Given the description of an element on the screen output the (x, y) to click on. 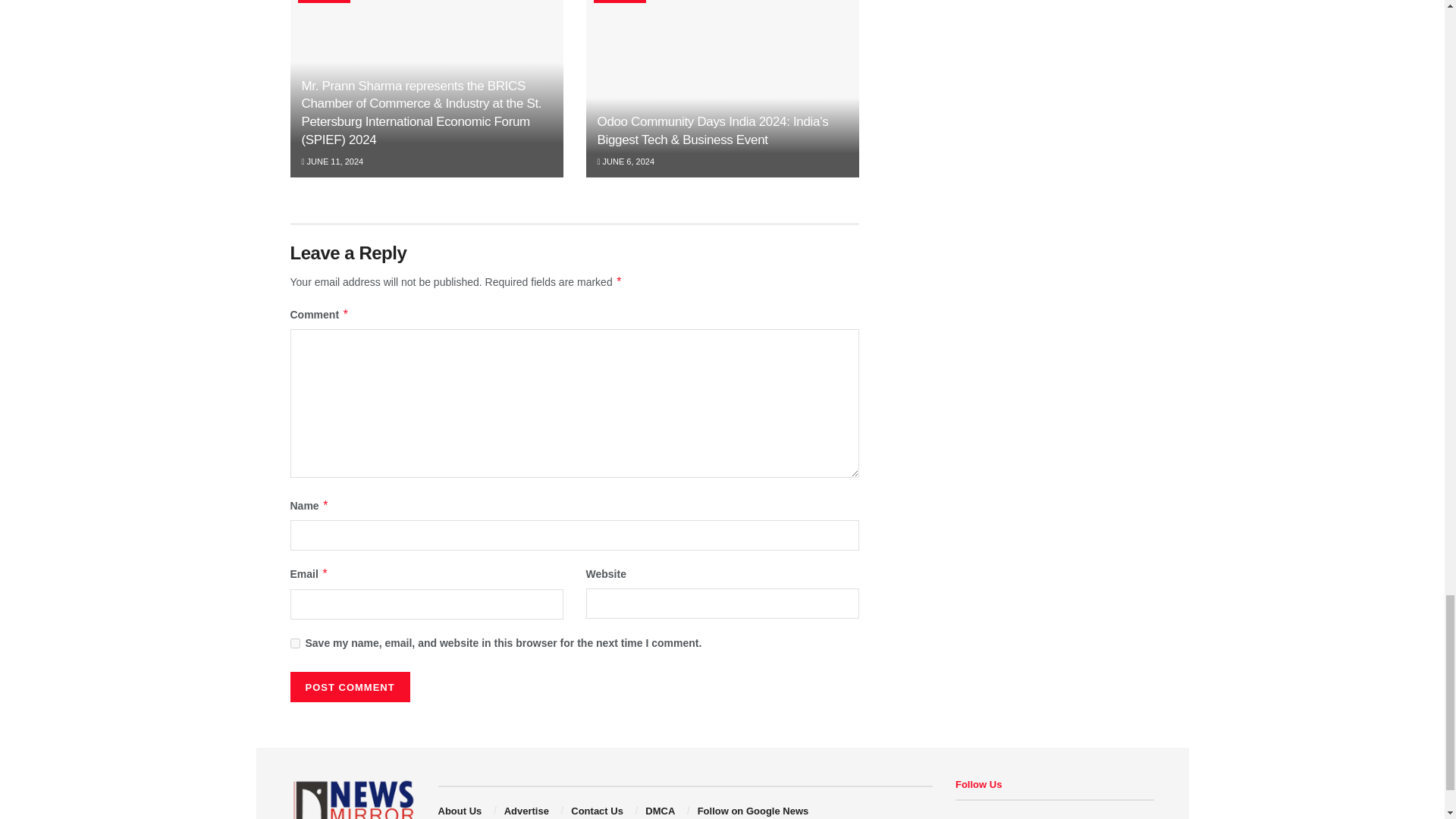
Post Comment (349, 686)
yes (294, 643)
